Given the description of an element on the screen output the (x, y) to click on. 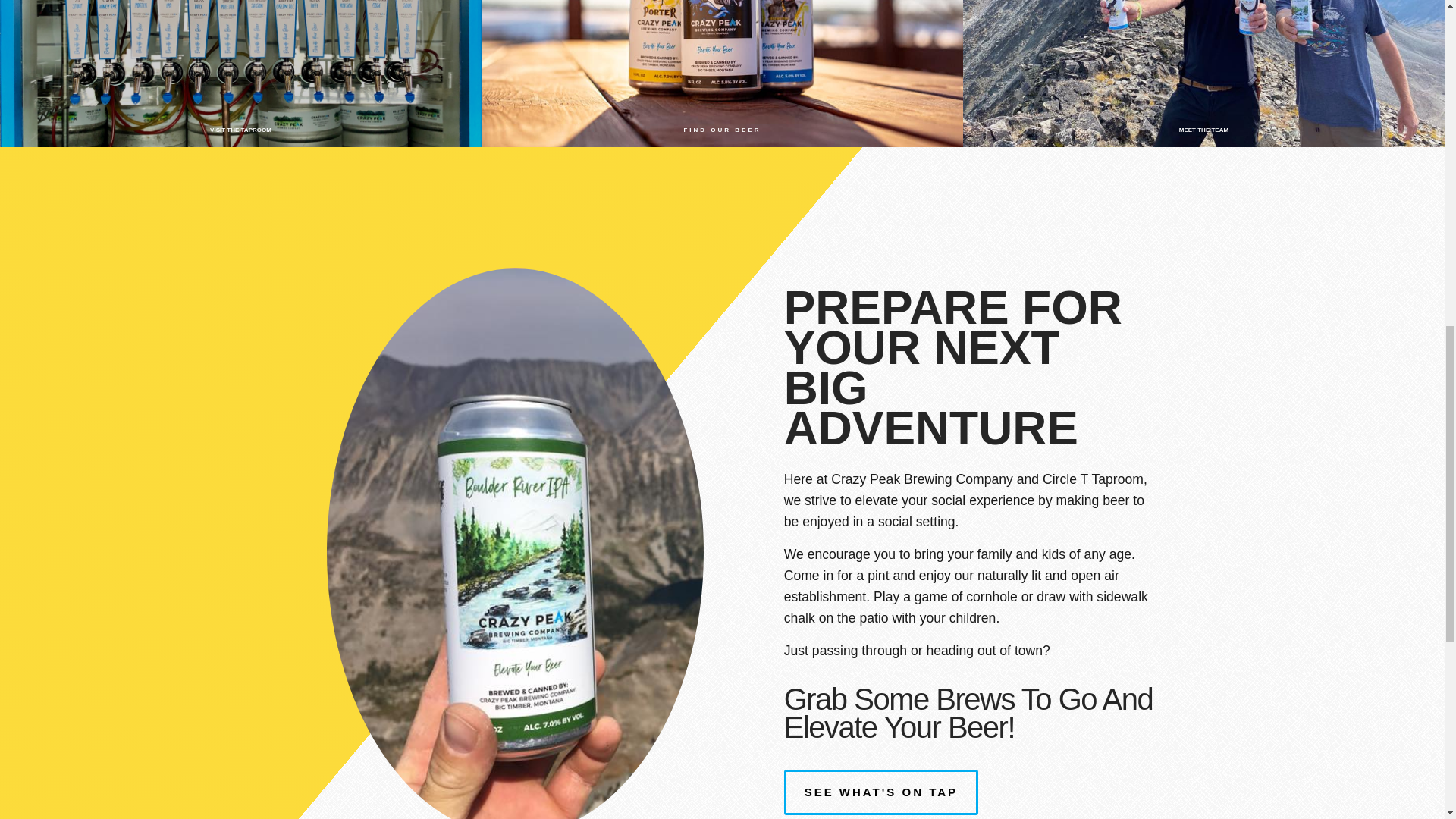
SEE WHAT'S ON TAP (881, 791)
